Given the description of an element on the screen output the (x, y) to click on. 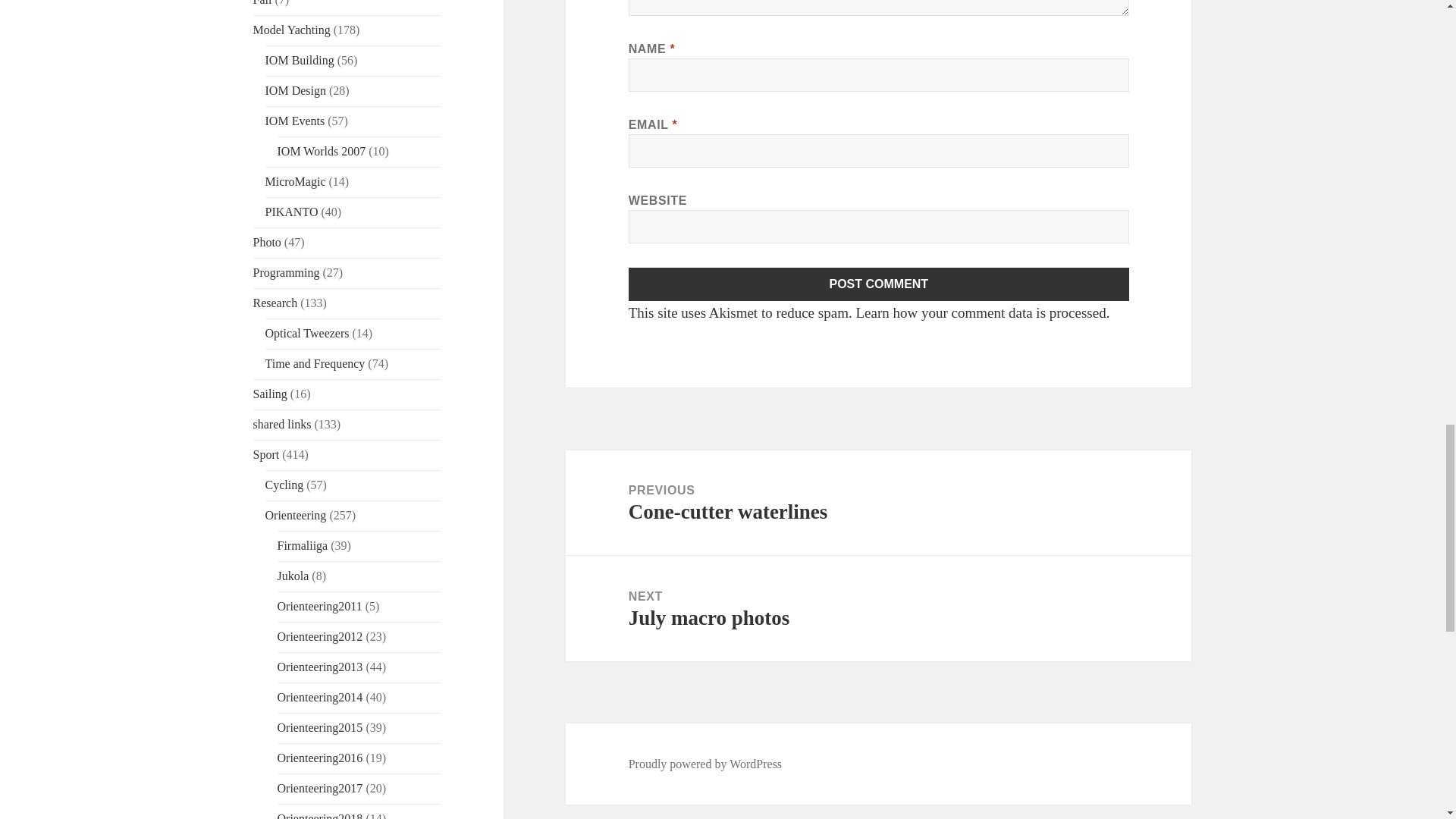
Post Comment (878, 284)
